Given the description of an element on the screen output the (x, y) to click on. 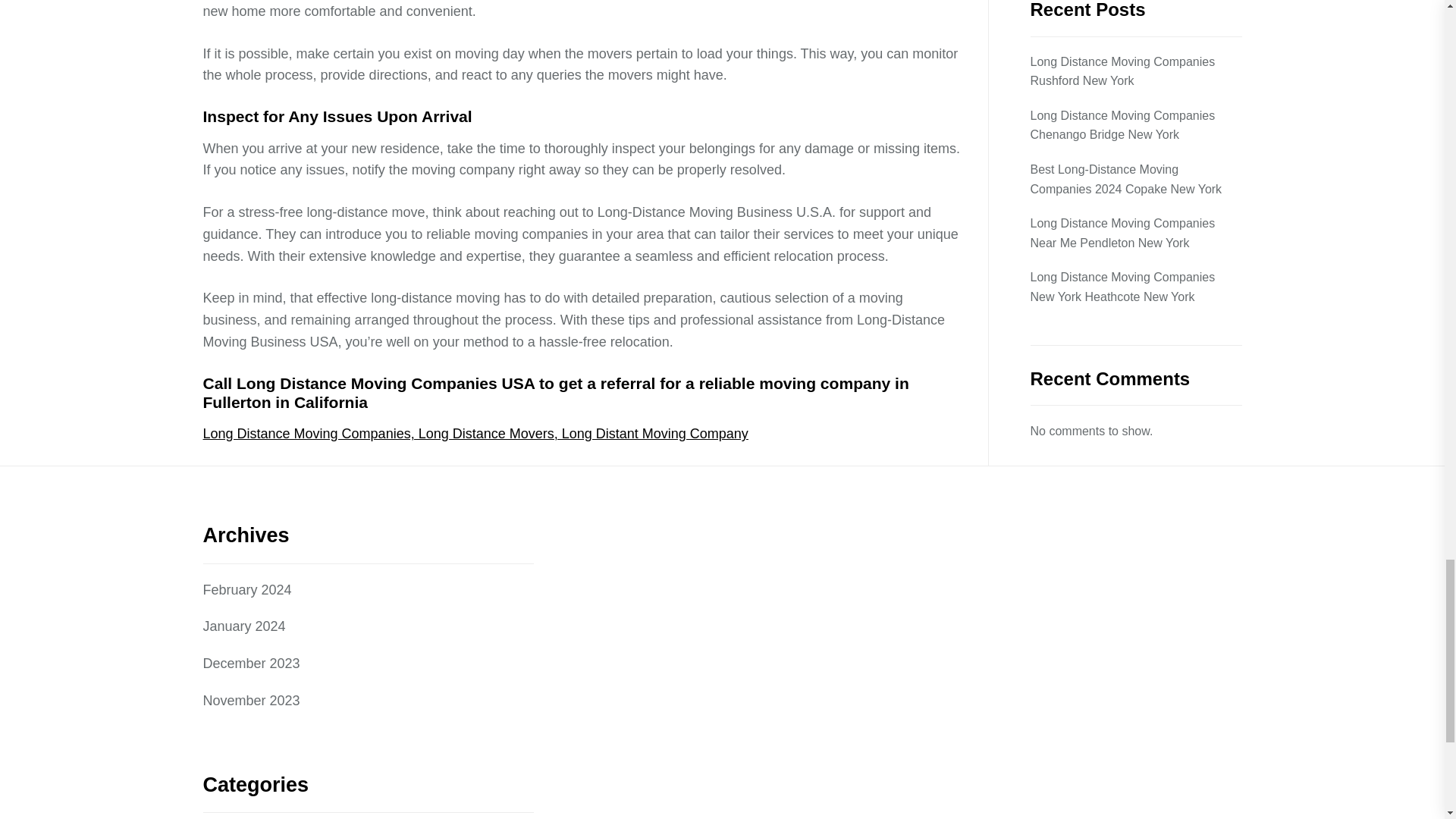
February 2024 (247, 590)
December 2023 (251, 663)
November 2023 (251, 700)
January 2024 (244, 626)
